Given the description of an element on the screen output the (x, y) to click on. 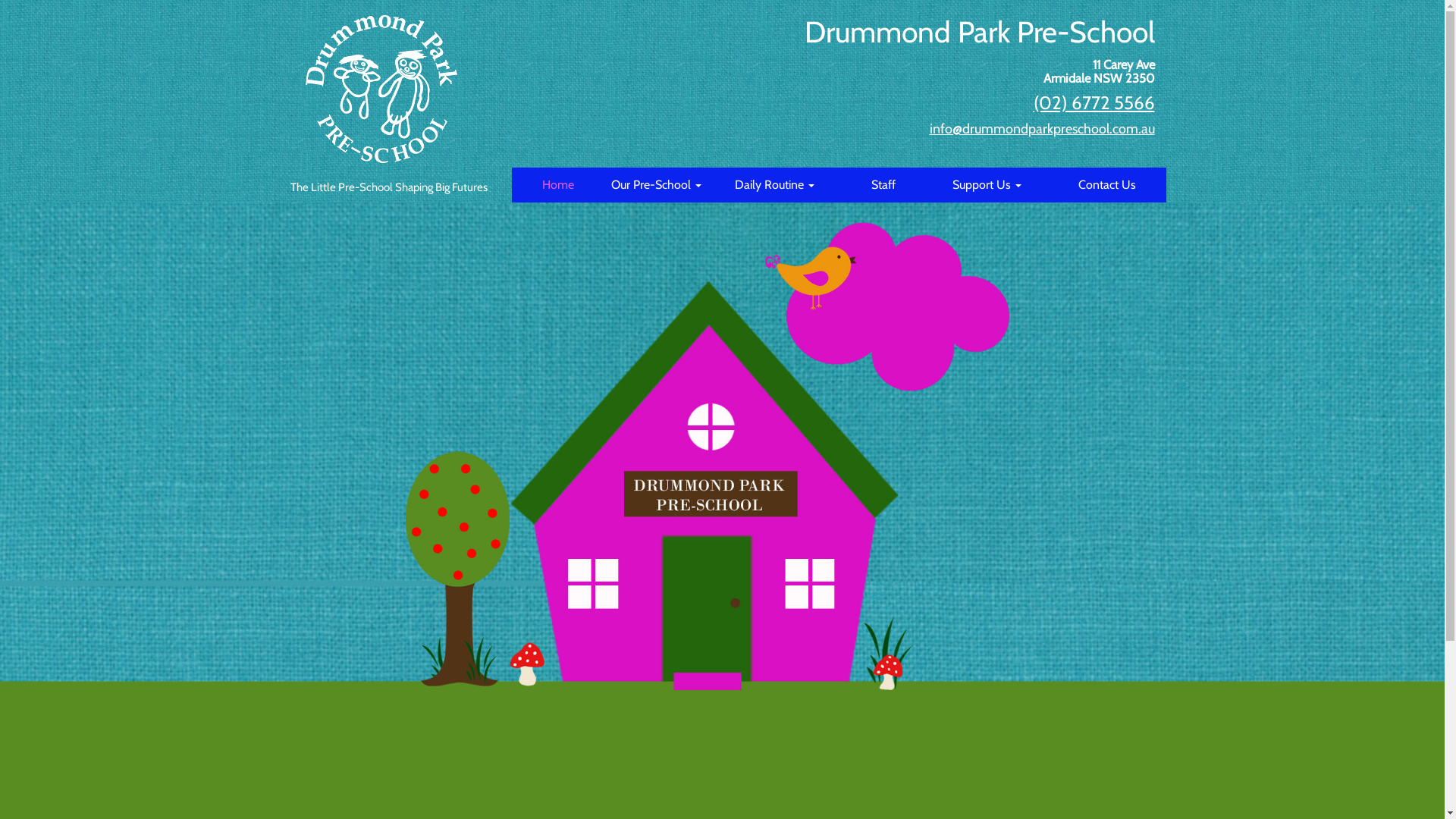
Our Pre-School  Element type: text (656, 184)
Contact Us Element type: text (1107, 184)
Home Element type: text (557, 184)
Staff Element type: text (882, 184)
info@drummondparkpreschool.com.au Element type: text (1041, 128)
Daily Routine  Element type: text (774, 184)
Support Us  Element type: text (986, 184)
(02) 6772 5566 Element type: text (1093, 102)
